Given the description of an element on the screen output the (x, y) to click on. 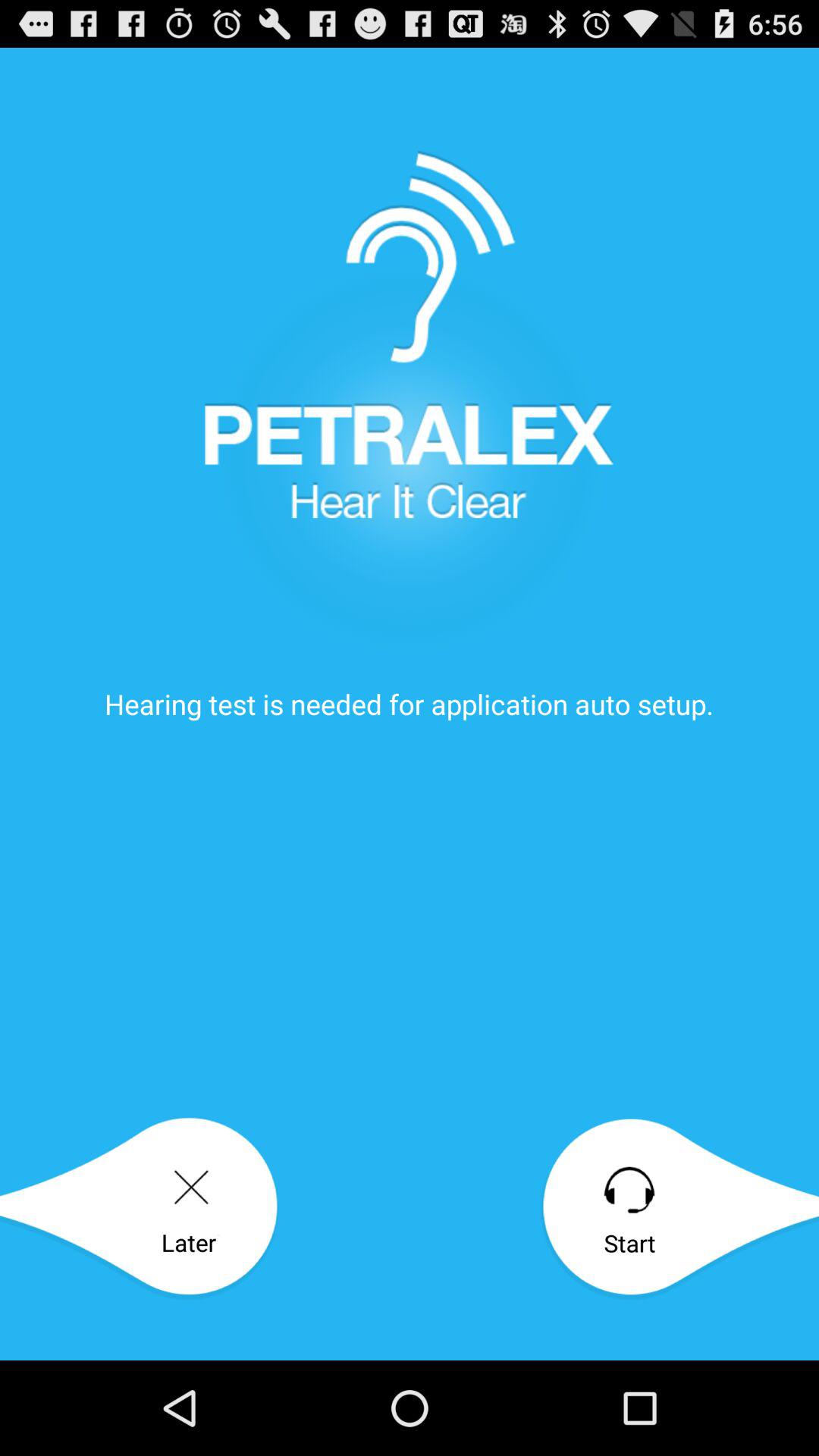
turn off icon at the bottom left corner (139, 1208)
